Given the description of an element on the screen output the (x, y) to click on. 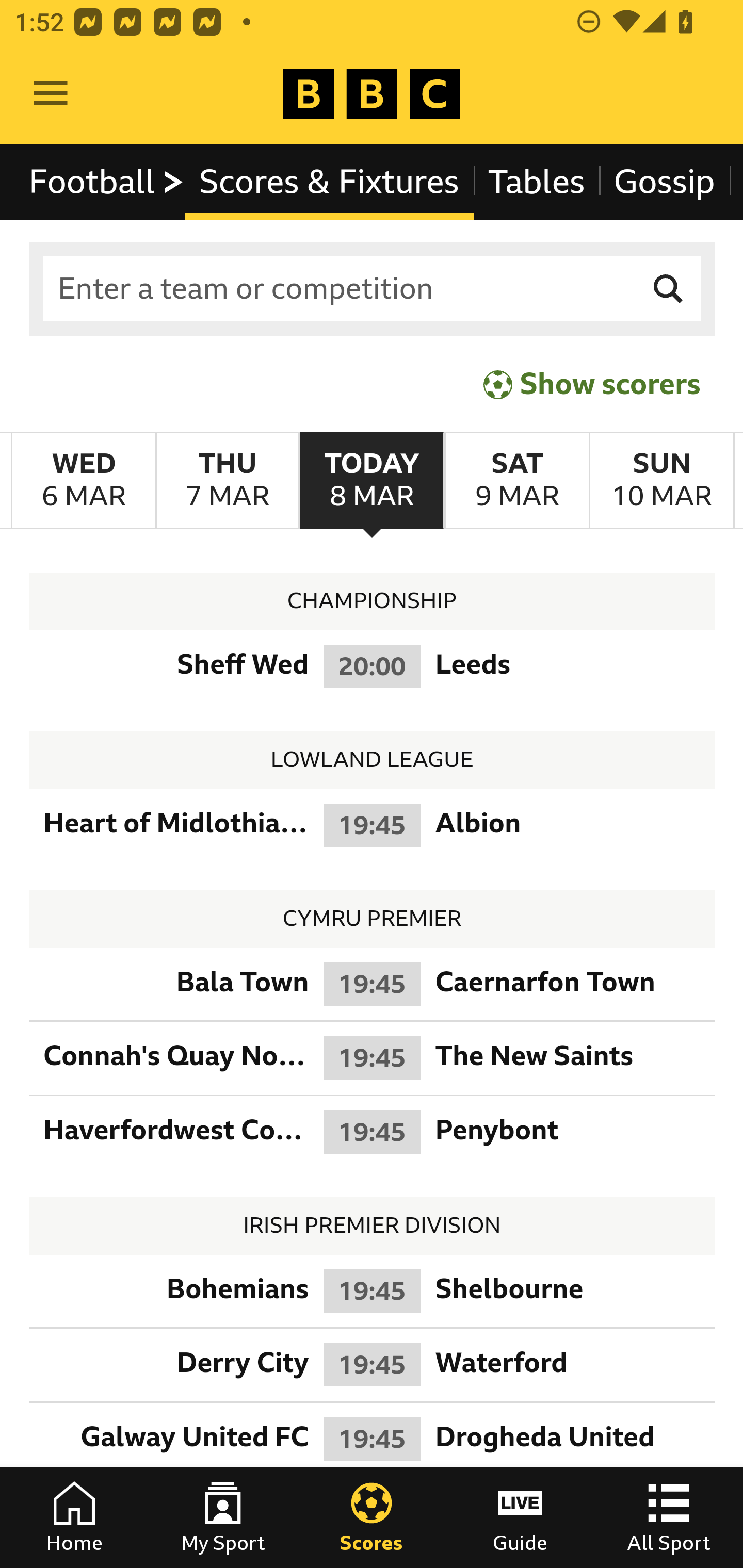
Open Menu (50, 93)
Football  (106, 181)
Scores & Fixtures (329, 181)
Tables (536, 181)
Gossip (664, 181)
Search (669, 289)
Show scorers (591, 383)
WednesdayMarch 6th Wednesday March 6th (83, 480)
ThursdayMarch 7th Thursday March 7th (227, 480)
SaturdayMarch 9th Saturday March 9th (516, 480)
SundayMarch 10th Sunday March 10th (661, 480)
Home (74, 1517)
My Sport (222, 1517)
Guide (519, 1517)
All Sport (668, 1517)
